Given the description of an element on the screen output the (x, y) to click on. 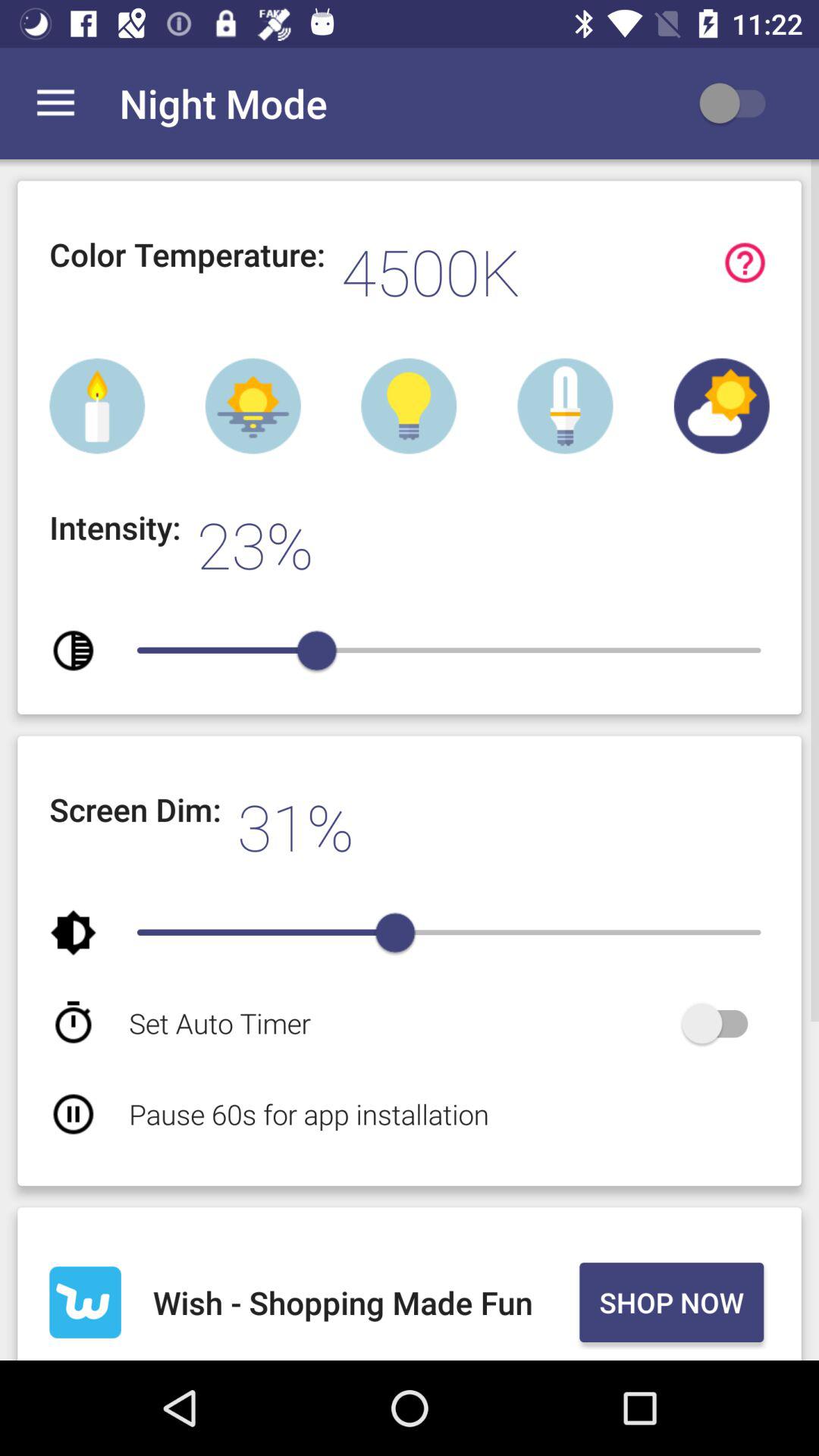
tap app next to the night mode (739, 103)
